Given the description of an element on the screen output the (x, y) to click on. 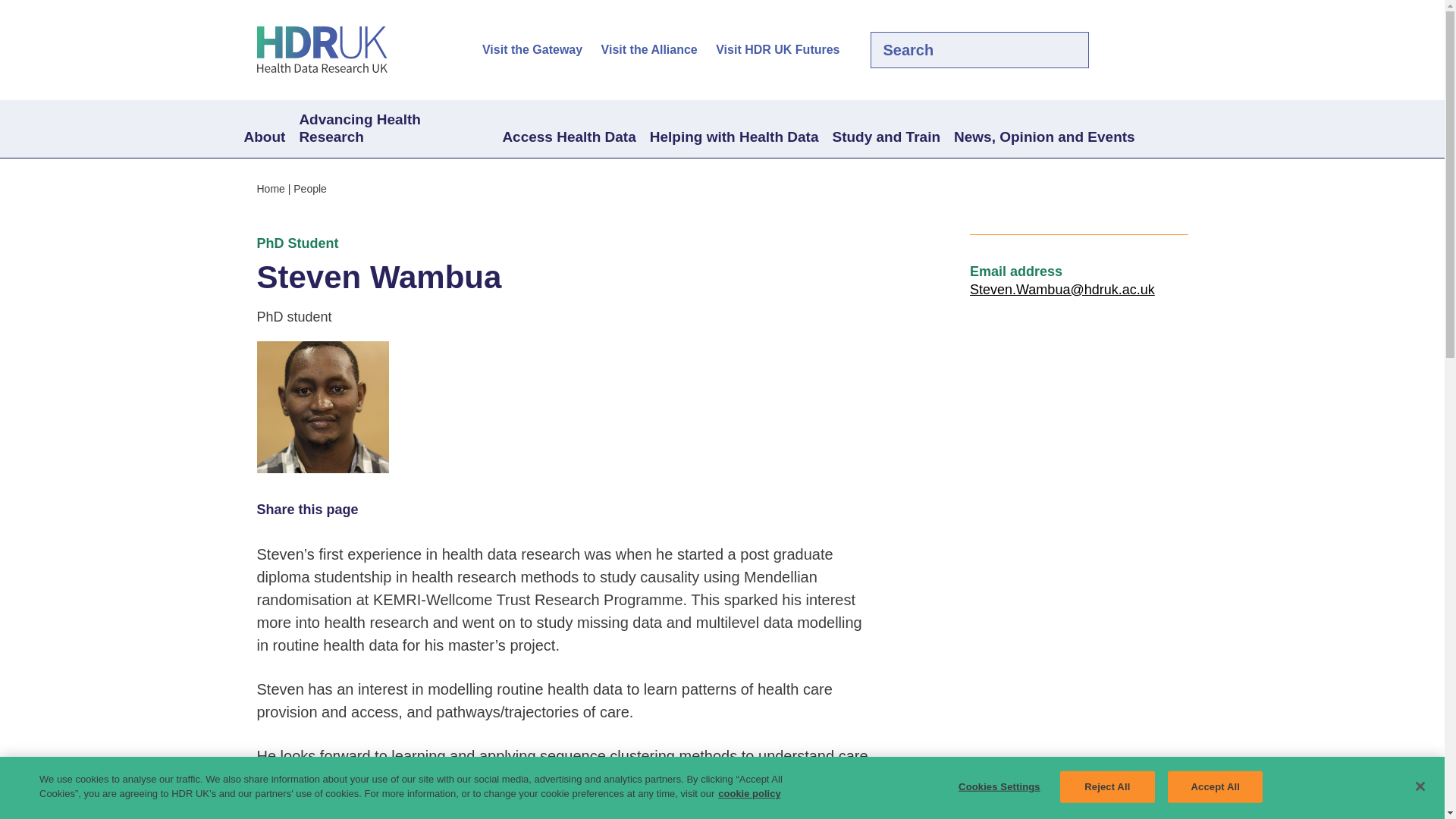
Advancing Health Research (393, 128)
Helping with Health Data (734, 137)
Twitter (1126, 50)
About (263, 137)
Visit the Alliance (649, 49)
YouTube (1179, 50)
Visit the Gateway (531, 49)
Access Health Data (568, 137)
Visit HDR UK Futures (778, 49)
LinkedIn (1152, 50)
